Given the description of an element on the screen output the (x, y) to click on. 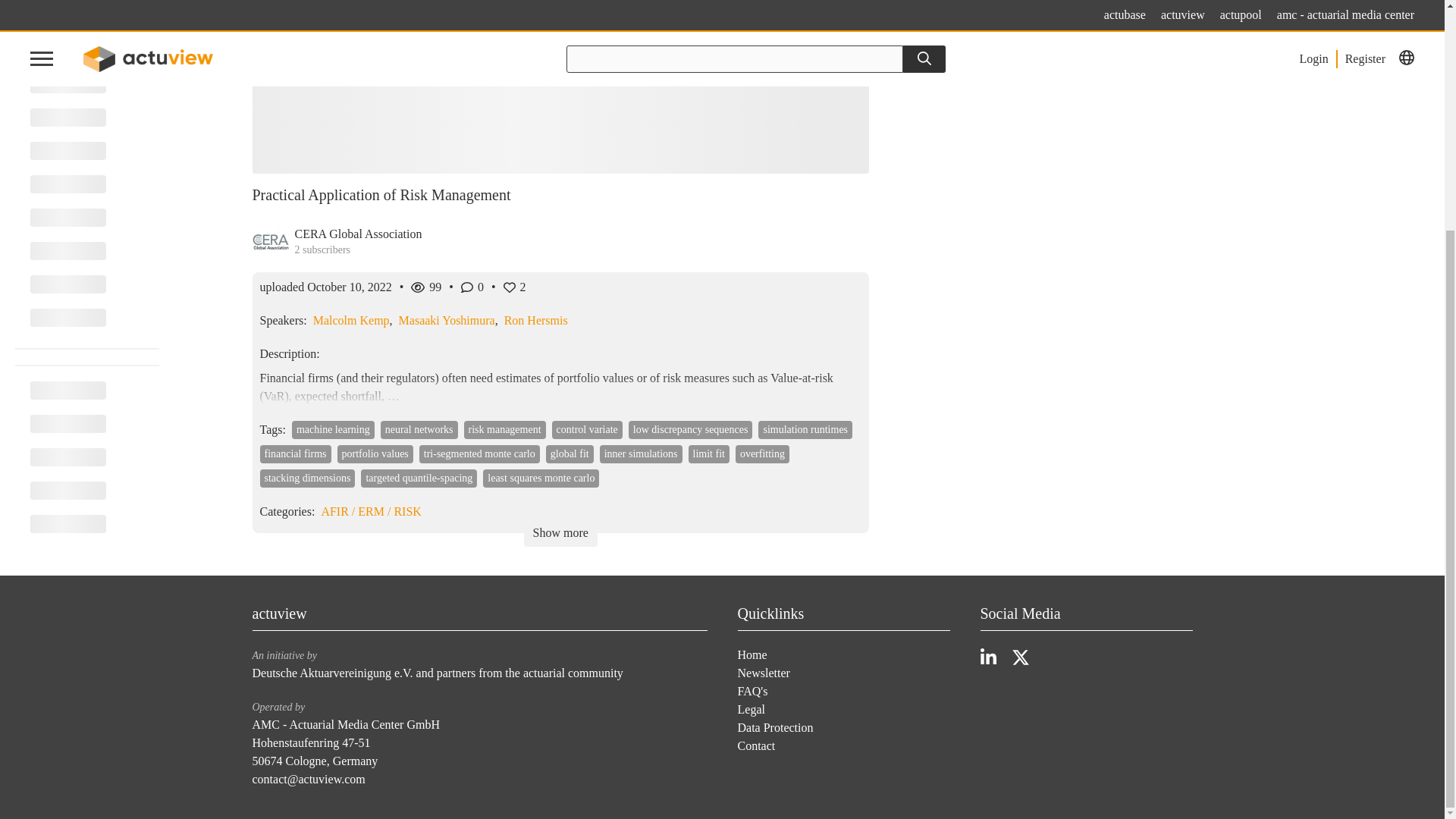
simulation runtimes (804, 429)
Contact (755, 745)
overfitting (762, 454)
Home (751, 654)
control variate (587, 429)
global fit (570, 454)
portfolio values (375, 454)
neural networks (419, 429)
stacking dimensions (307, 478)
Legal (750, 708)
Show more (559, 533)
limit fit (708, 454)
Masaaki Yoshimura (446, 319)
machine learning (333, 429)
Newsletter (762, 672)
